Given the description of an element on the screen output the (x, y) to click on. 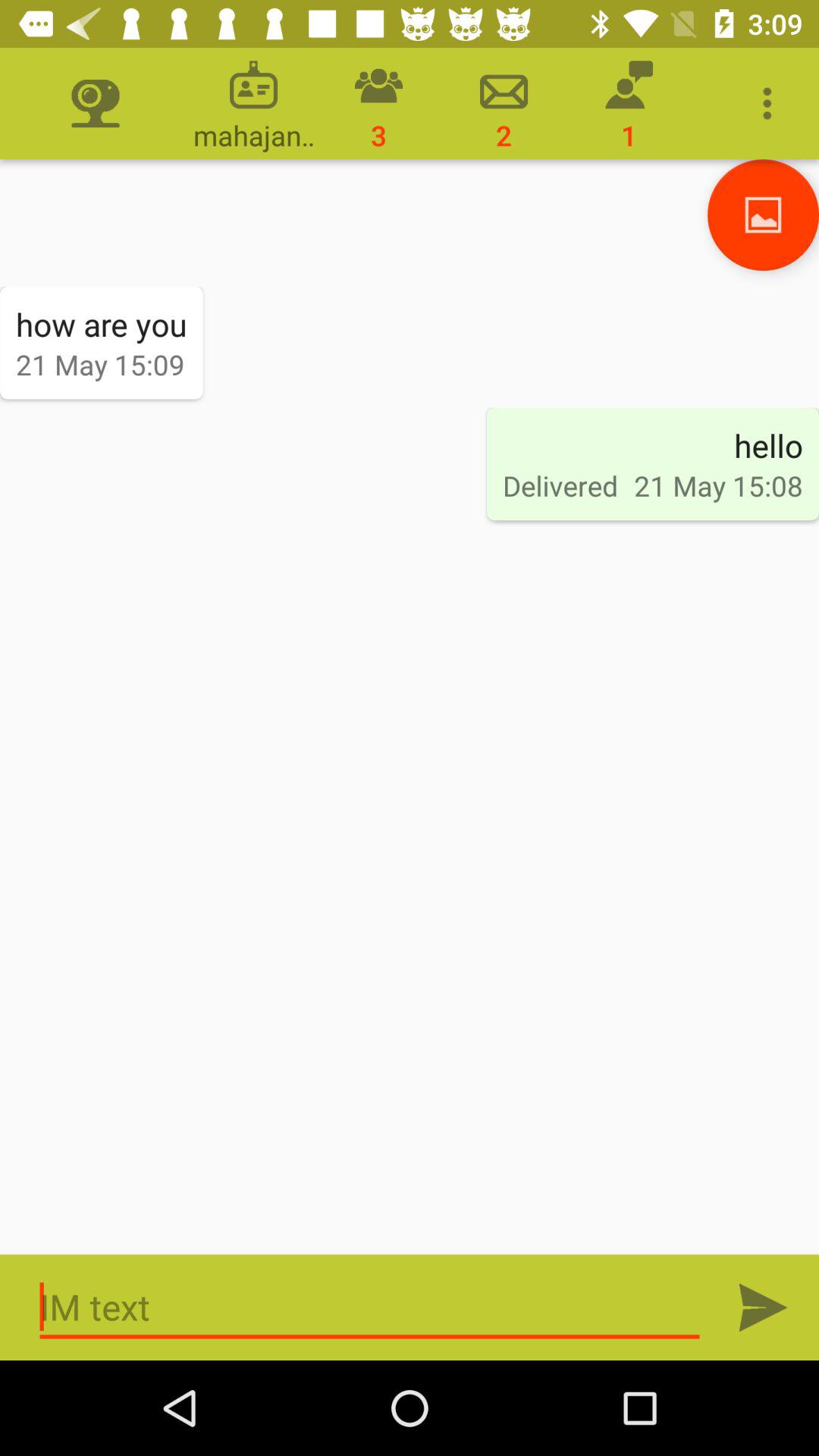
text boxes (369, 1307)
